Given the description of an element on the screen output the (x, y) to click on. 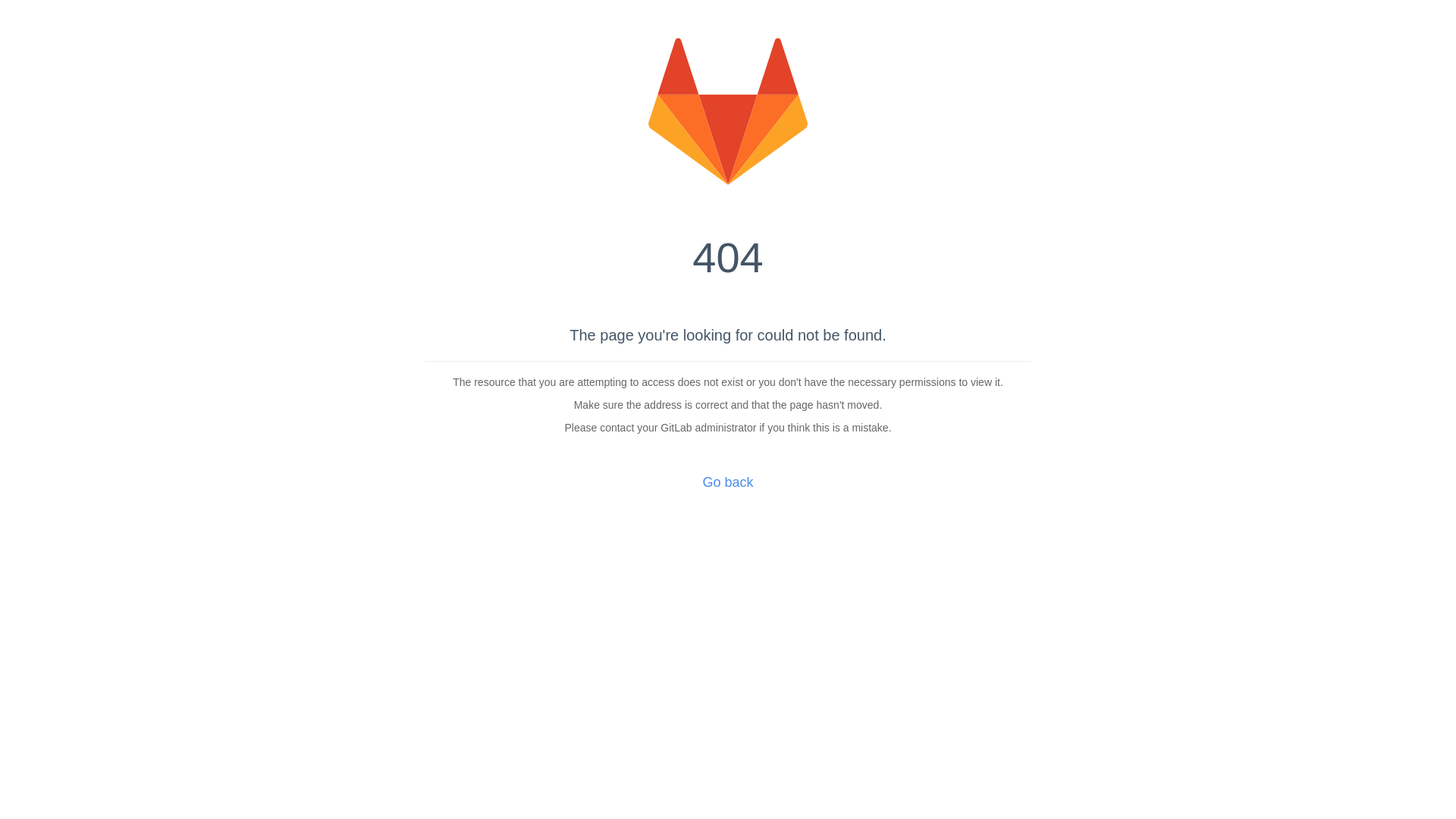
Go back Element type: text (727, 481)
